Given the description of an element on the screen output the (x, y) to click on. 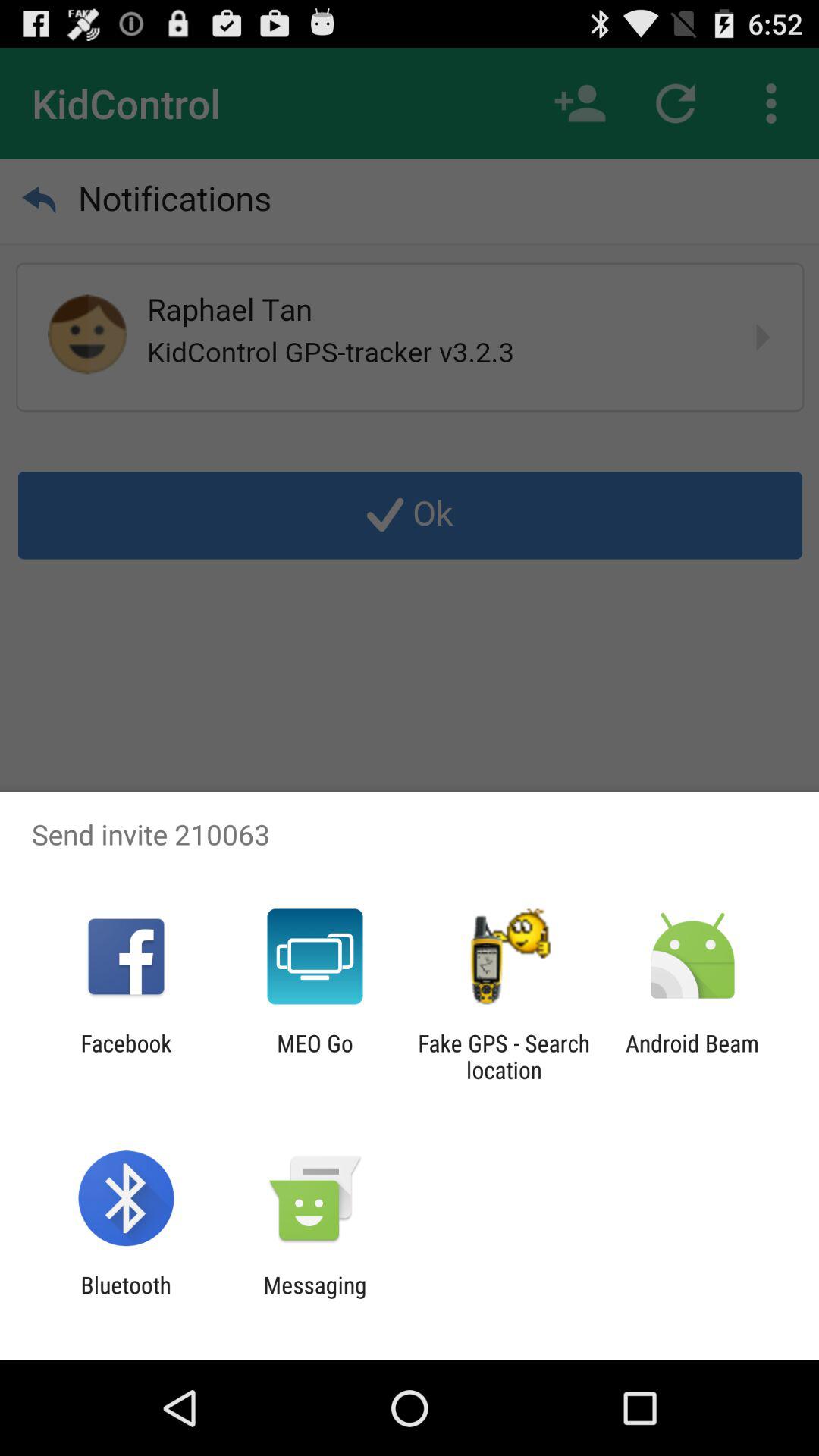
flip until bluetooth icon (125, 1298)
